Given the description of an element on the screen output the (x, y) to click on. 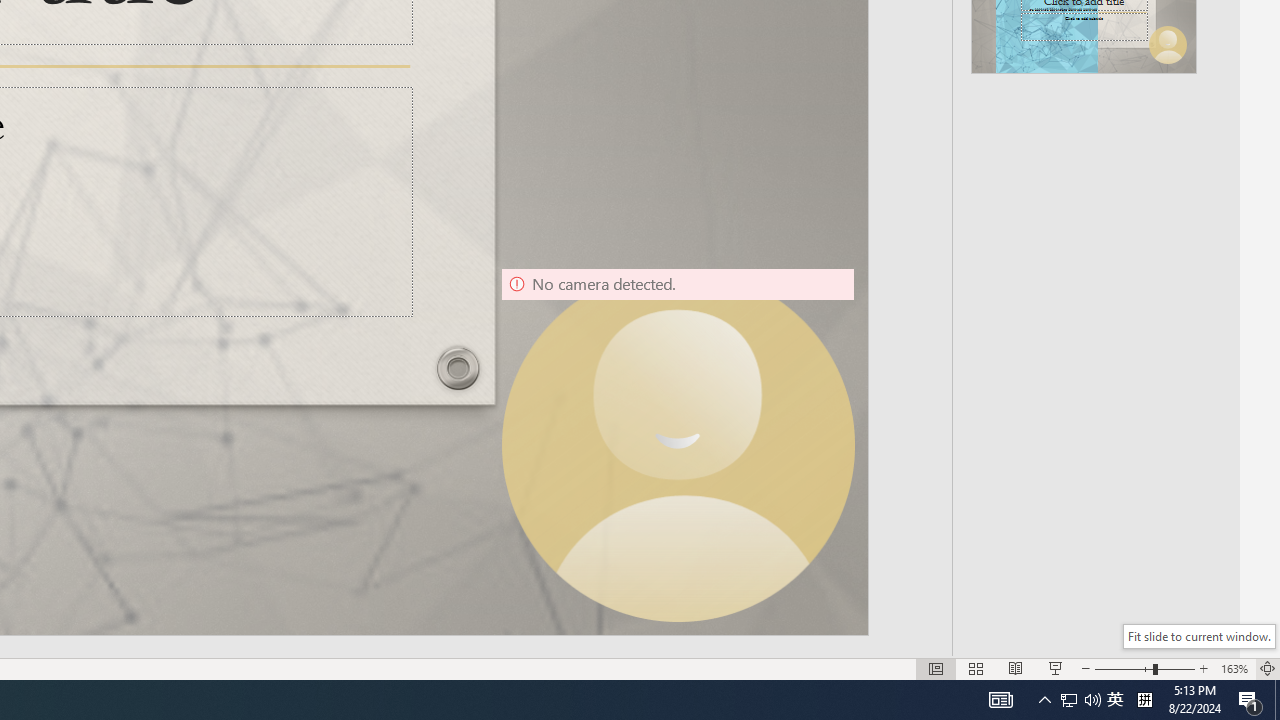
Zoom to Fit  (1267, 668)
Zoom 163% (1234, 668)
Camera 9, No camera detected. (678, 444)
Fit slide to current window. (1199, 636)
